Given the description of an element on the screen output the (x, y) to click on. 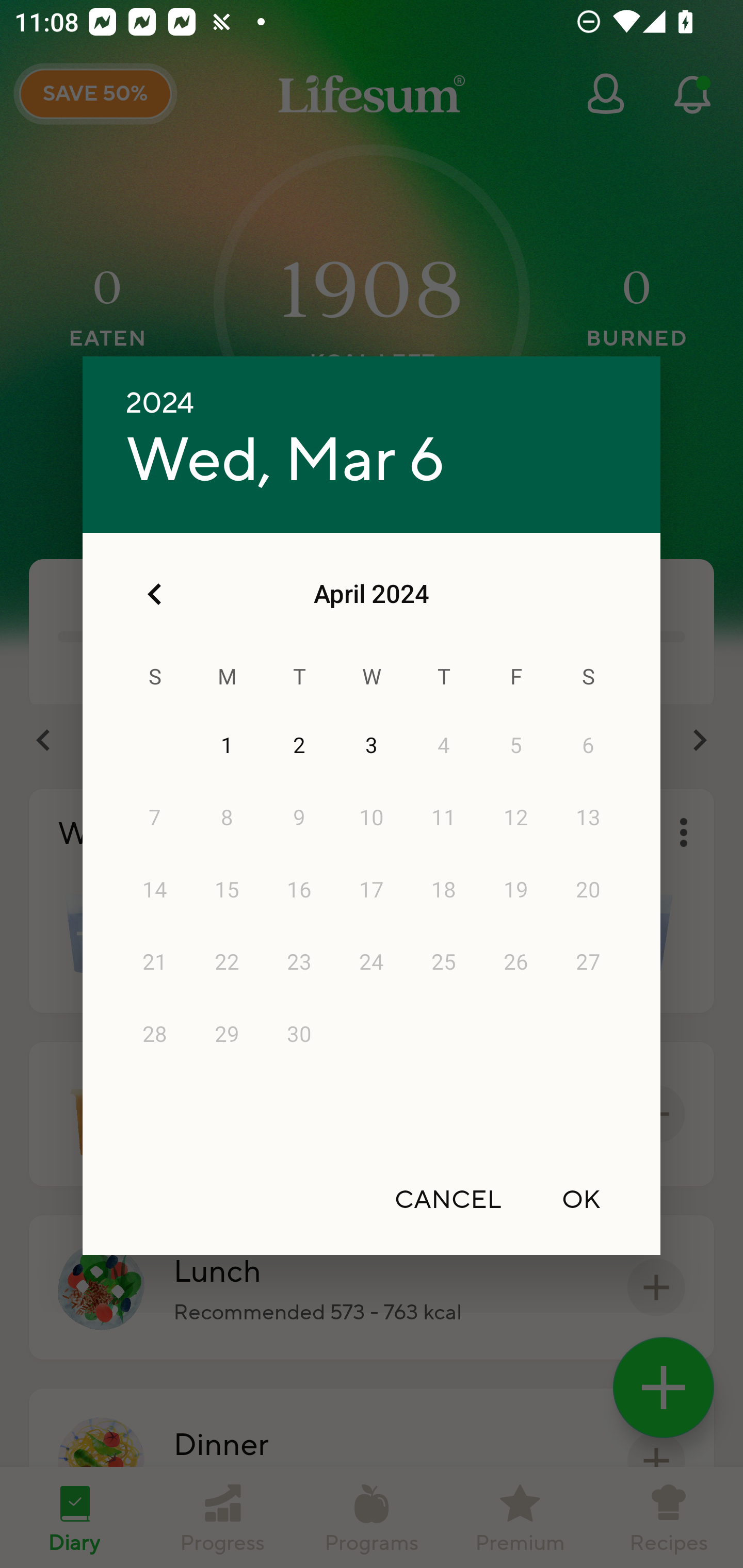
2024 (159, 403)
Wed, Mar 6 (285, 460)
Previous month (154, 594)
1 01 April 2024 (226, 746)
2 02 April 2024 (299, 746)
3 03 April 2024 (371, 746)
4 04 April 2024 (443, 746)
5 05 April 2024 (515, 746)
6 06 April 2024 (588, 746)
7 07 April 2024 (154, 818)
8 08 April 2024 (226, 818)
9 09 April 2024 (299, 818)
10 10 April 2024 (371, 818)
11 11 April 2024 (443, 818)
12 12 April 2024 (515, 818)
13 13 April 2024 (588, 818)
14 14 April 2024 (154, 890)
15 15 April 2024 (226, 890)
16 16 April 2024 (299, 890)
17 17 April 2024 (371, 890)
18 18 April 2024 (443, 890)
19 19 April 2024 (515, 890)
20 20 April 2024 (588, 890)
21 21 April 2024 (154, 962)
22 22 April 2024 (226, 962)
23 23 April 2024 (299, 962)
24 24 April 2024 (371, 962)
25 25 April 2024 (443, 962)
26 26 April 2024 (515, 962)
27 27 April 2024 (588, 962)
28 28 April 2024 (154, 1034)
29 29 April 2024 (226, 1034)
30 30 April 2024 (299, 1034)
CANCEL (447, 1199)
OK (580, 1199)
